Given the description of an element on the screen output the (x, y) to click on. 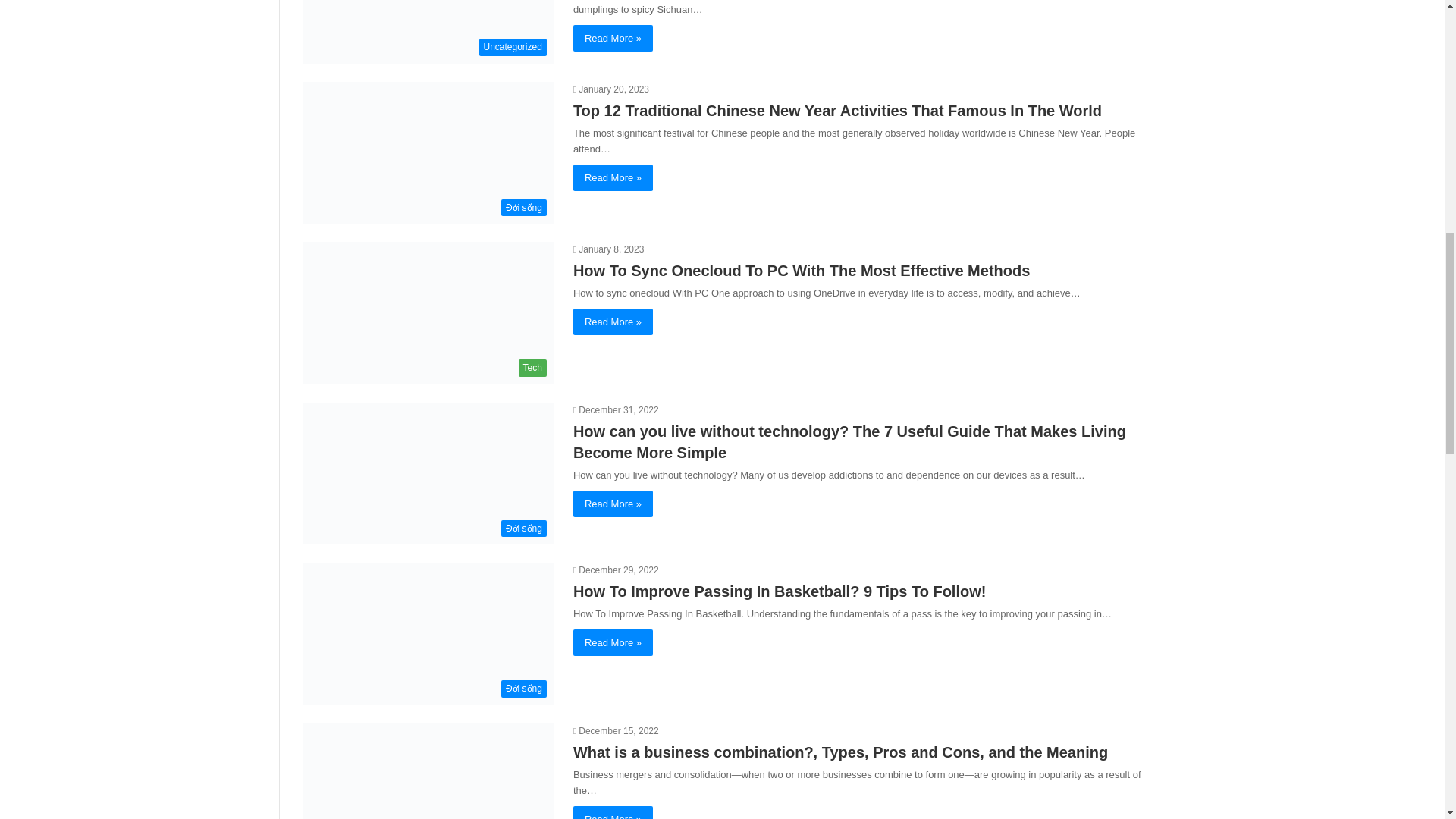
Uncategorized (427, 31)
How To Sync Onecloud To PC With The Most Effective Methods (801, 270)
How To Improve Passing In Basketball? 9 Tips To Follow! (780, 591)
Business (427, 771)
Tech (427, 312)
